Given the description of an element on the screen output the (x, y) to click on. 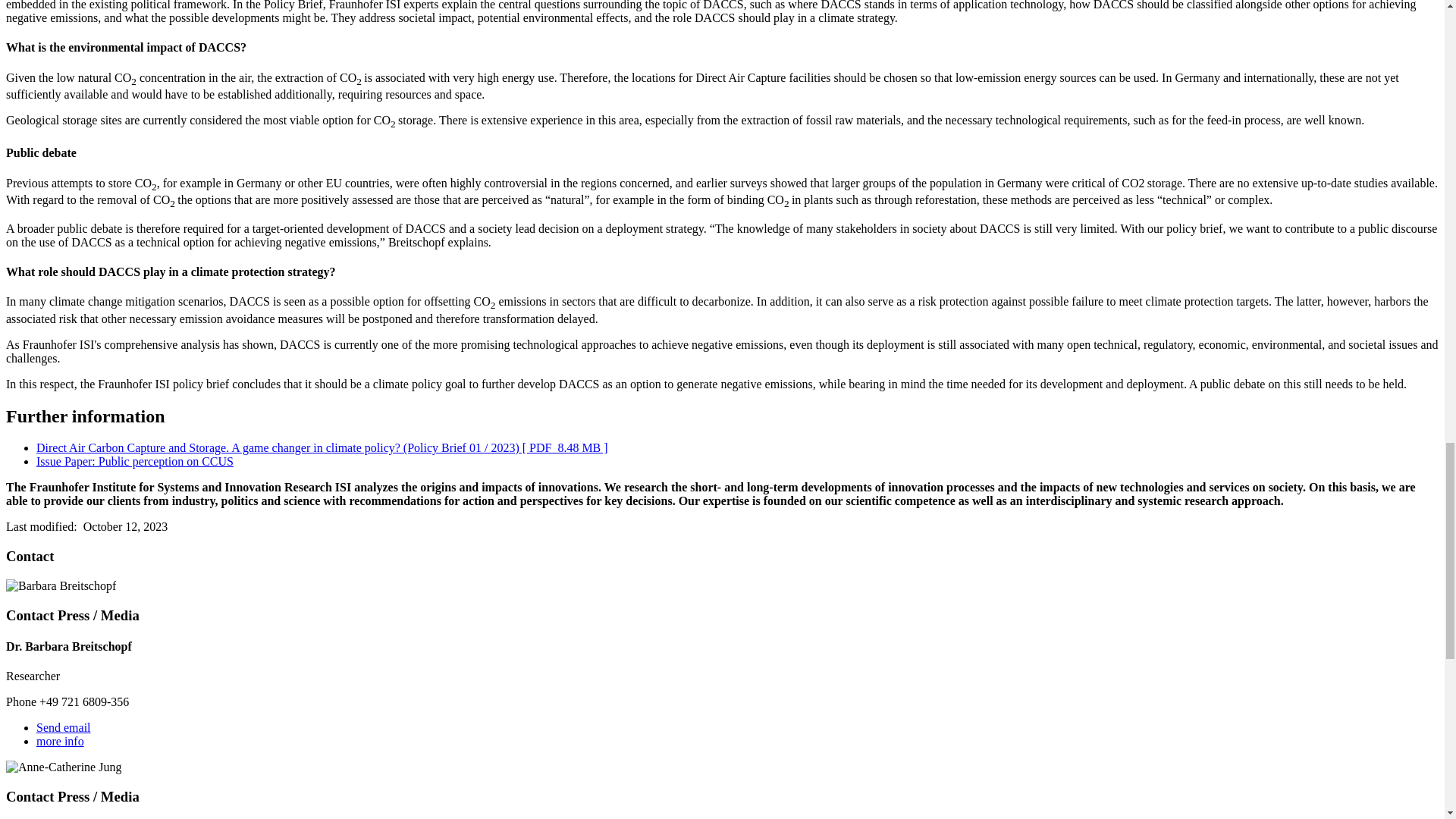
Anne-Catherine Jung (62, 766)
